Given the description of an element on the screen output the (x, y) to click on. 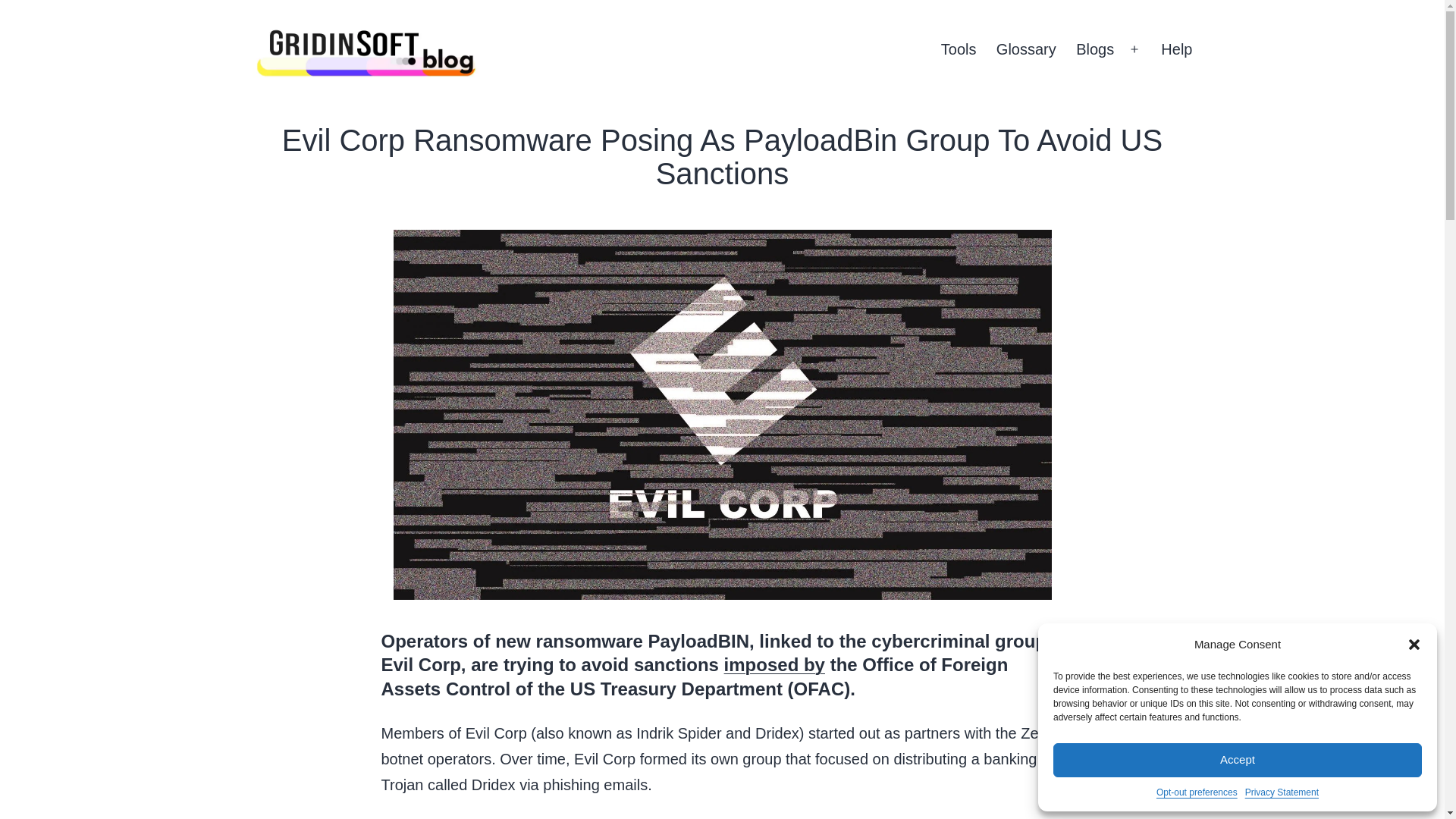
Opt-out preferences (1196, 792)
Accept (1237, 759)
imposed by (774, 664)
Glossary (1026, 48)
Privacy Statement (1281, 792)
Help (1176, 48)
Tools (959, 48)
Blogs (1094, 48)
Gridinsoft Blog (284, 105)
